Given the description of an element on the screen output the (x, y) to click on. 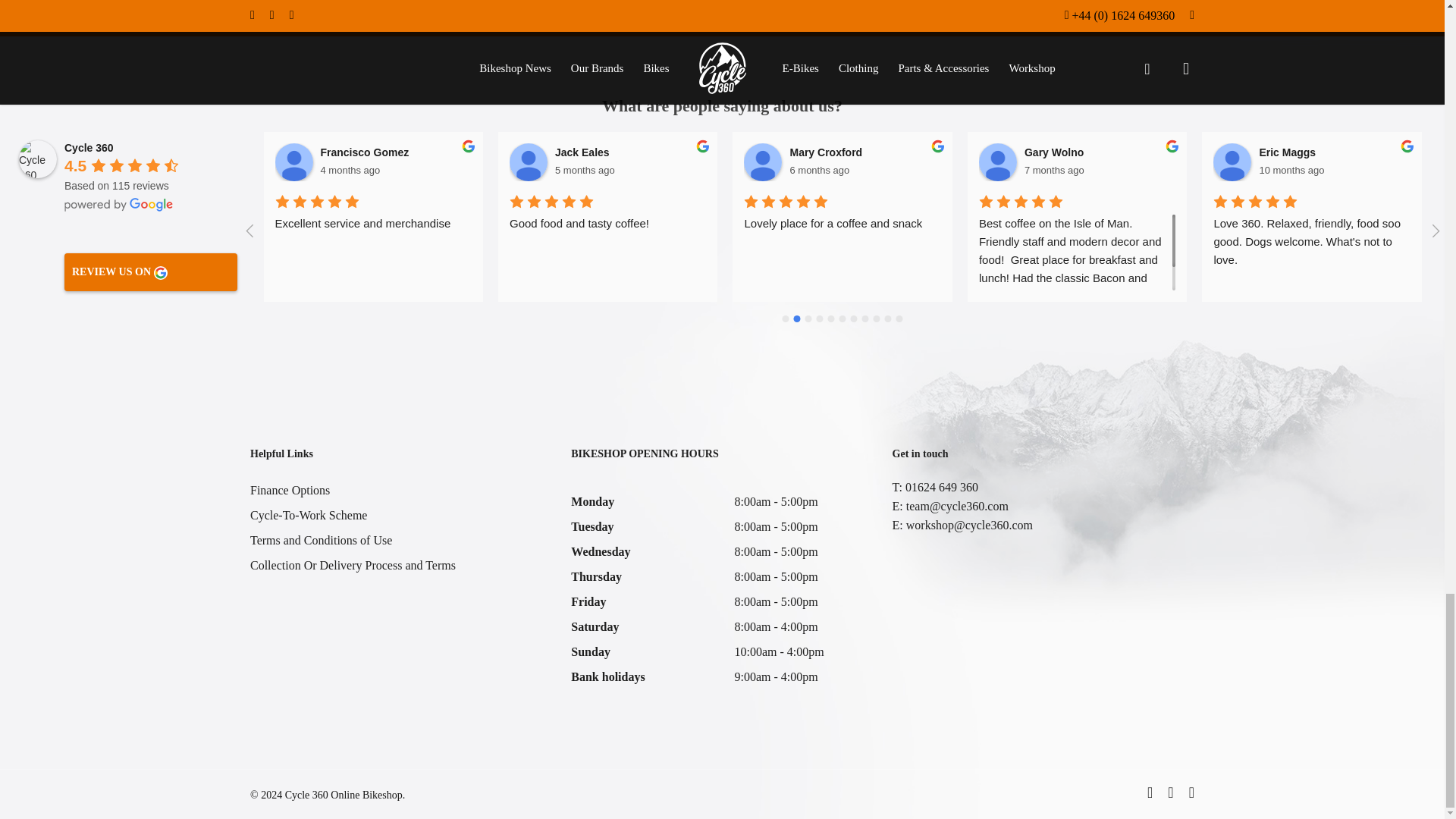
Cycle 360 (37, 159)
Gary Wolno (997, 161)
Jack Eales (528, 161)
Mary Croxford (762, 161)
Eric Maggs (1231, 161)
Francisco Gomez (294, 161)
powered by Google (118, 204)
